Given the description of an element on the screen output the (x, y) to click on. 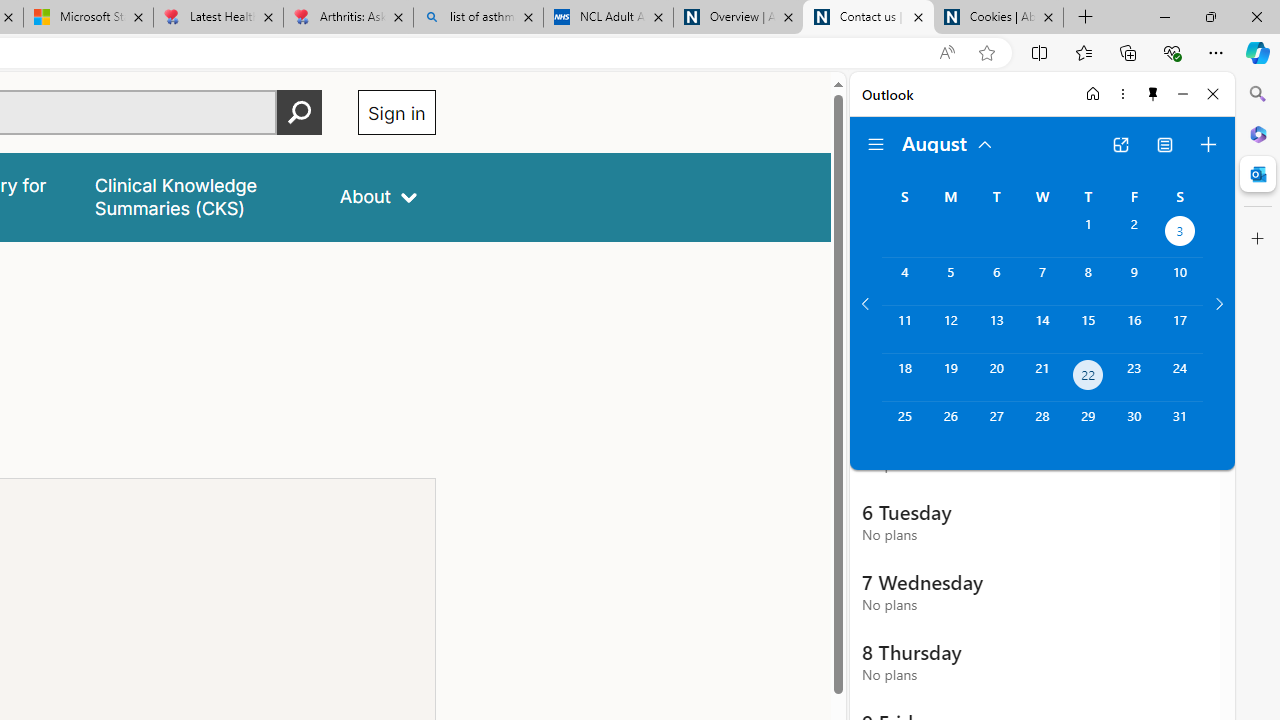
Thursday, August 22, 2024. Today.  (1088, 377)
Friday, August 16, 2024.  (1134, 329)
Sunday, August 18, 2024.  (904, 377)
Saturday, August 3, 2024. Date selected.  (1180, 233)
Wednesday, August 21, 2024.  (1042, 377)
